Given the description of an element on the screen output the (x, y) to click on. 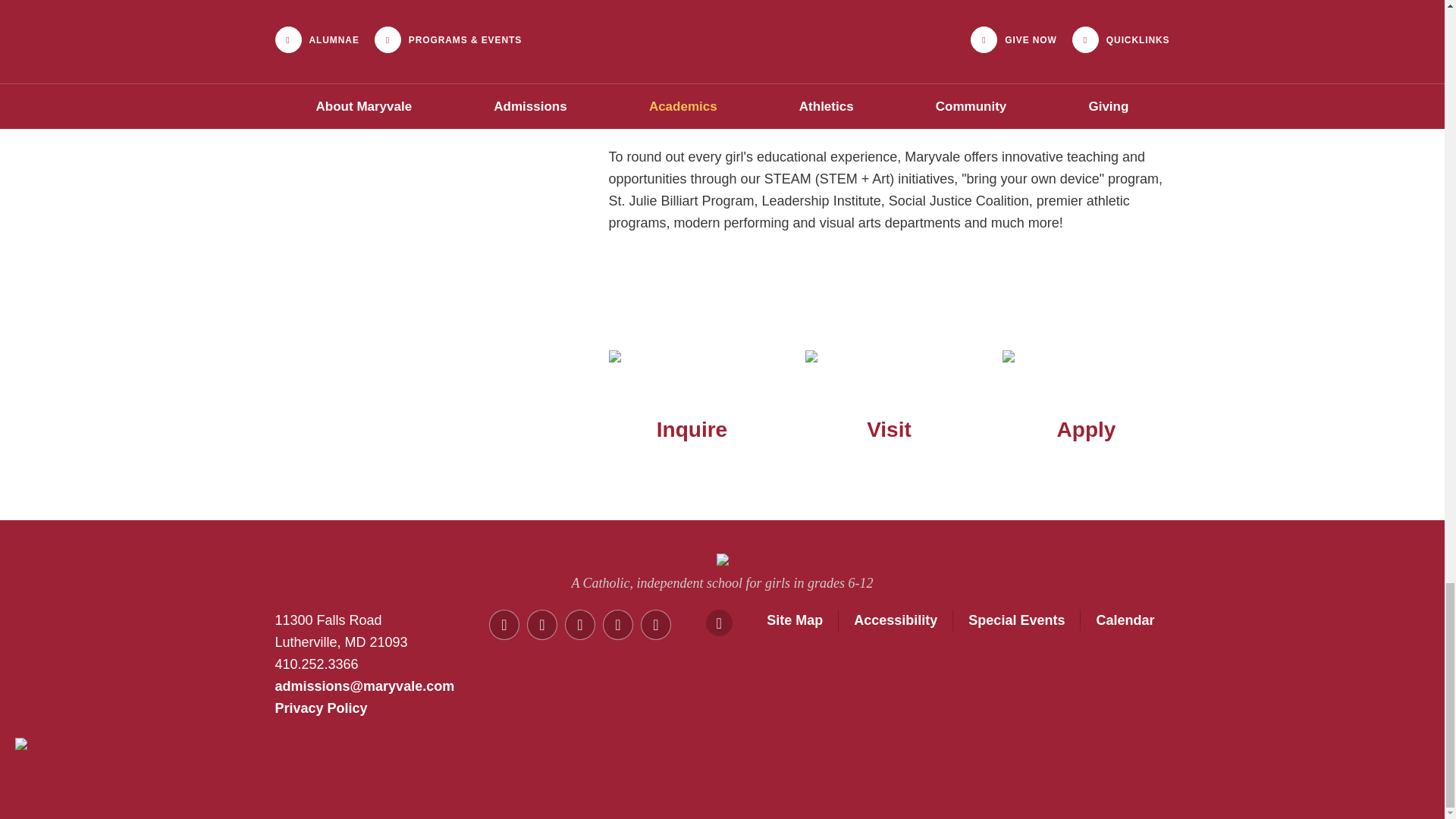
Powered by Finalsite opens in a new window (721, 808)
